Given the description of an element on the screen output the (x, y) to click on. 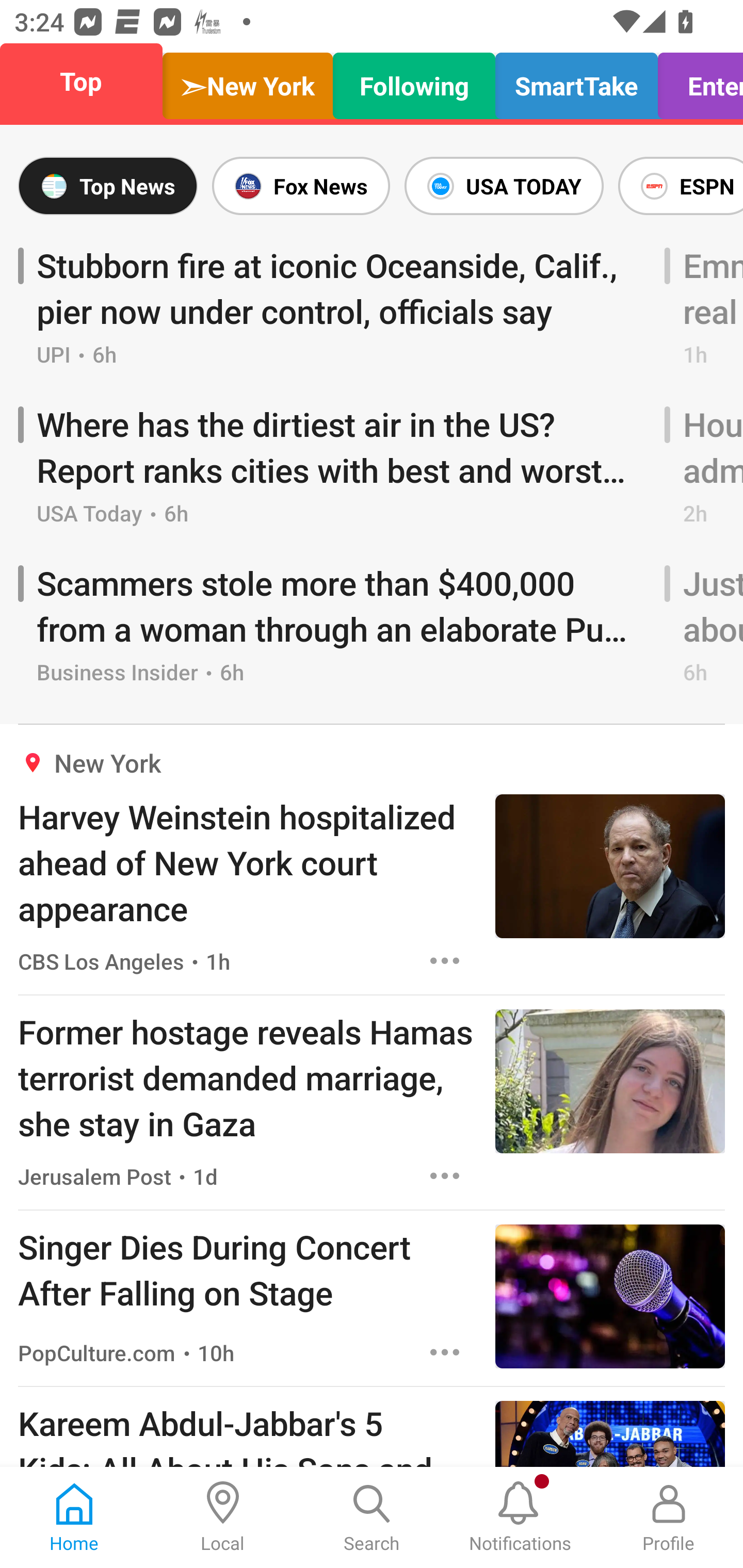
Top (86, 81)
➣New York (247, 81)
Following (413, 81)
SmartTake (576, 81)
Fox News (301, 185)
USA TODAY (503, 185)
ESPN (676, 185)
Options (444, 961)
Options (444, 1175)
Options (444, 1352)
Local (222, 1517)
Search (371, 1517)
Notifications, New notification Notifications (519, 1517)
Profile (668, 1517)
